Given the description of an element on the screen output the (x, y) to click on. 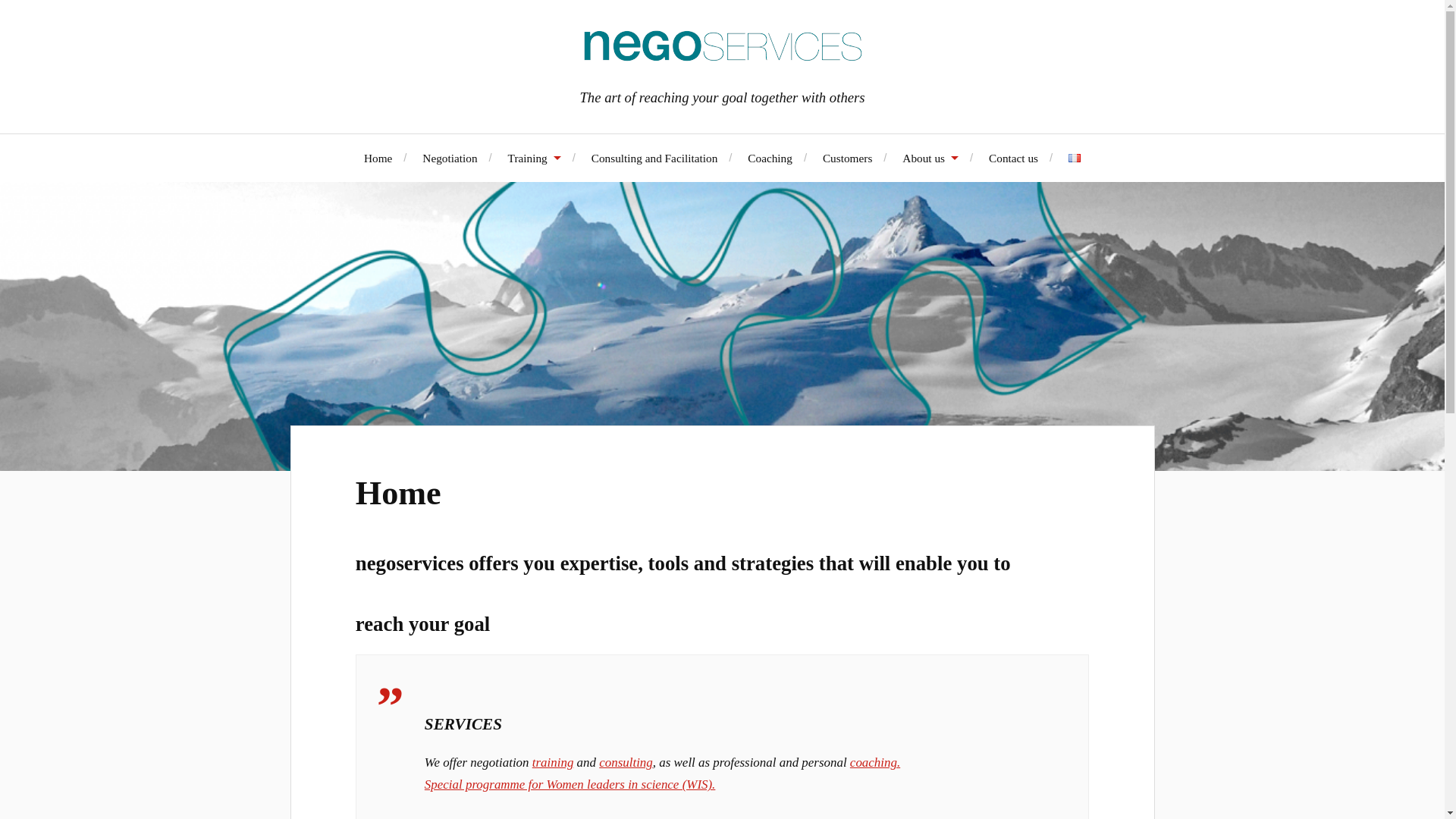
coaching. (874, 762)
Home (398, 493)
Coaching (770, 156)
Consulting and Facilitation (654, 156)
More info (1039, 818)
training (552, 762)
Customers (847, 156)
Contact us (1013, 156)
consulting (625, 762)
Negotiation (449, 156)
About us (930, 156)
Training (534, 156)
